Given the description of an element on the screen output the (x, y) to click on. 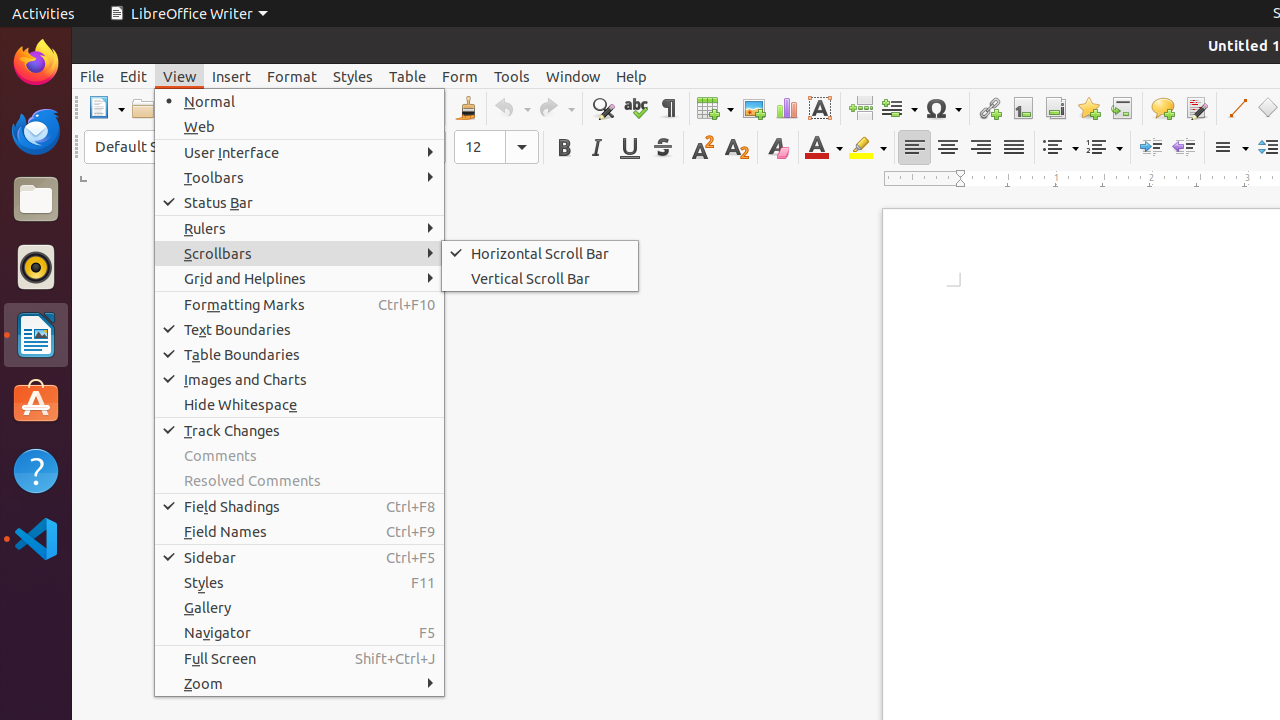
Resolved Comments Element type: menu-item (299, 480)
Styles Element type: menu (353, 76)
Right Element type: toggle-button (980, 147)
Highlight Color Element type: push-button (868, 147)
Line Spacing Element type: push-button (1230, 147)
